Given the description of an element on the screen output the (x, y) to click on. 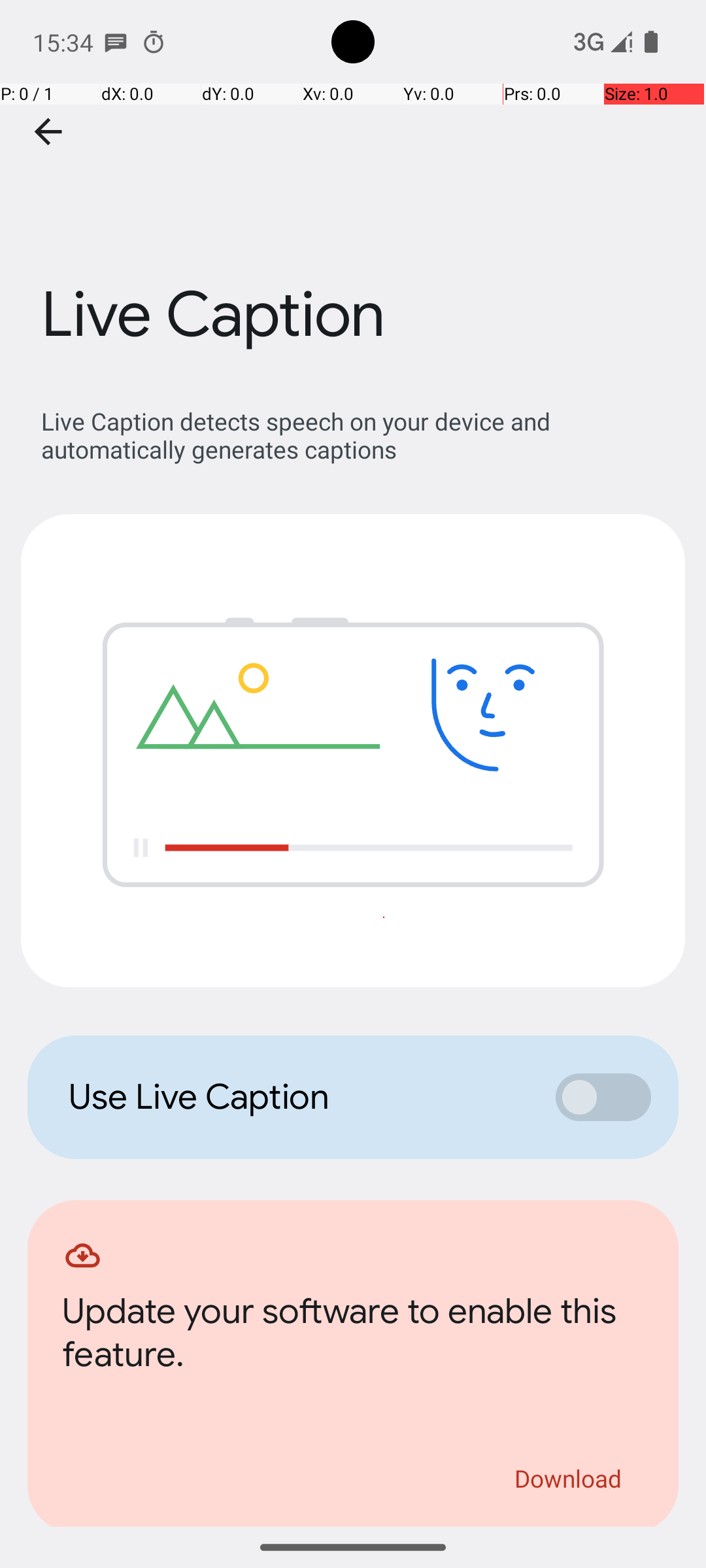
Live Caption detects speech on your device and automatically generates captions Element type: android.widget.TextView (359, 434)
Use Live Caption Element type: android.widget.TextView (298, 1096)
Update your software to enable this feature. Element type: android.widget.TextView (352, 1336)
